Given the description of an element on the screen output the (x, y) to click on. 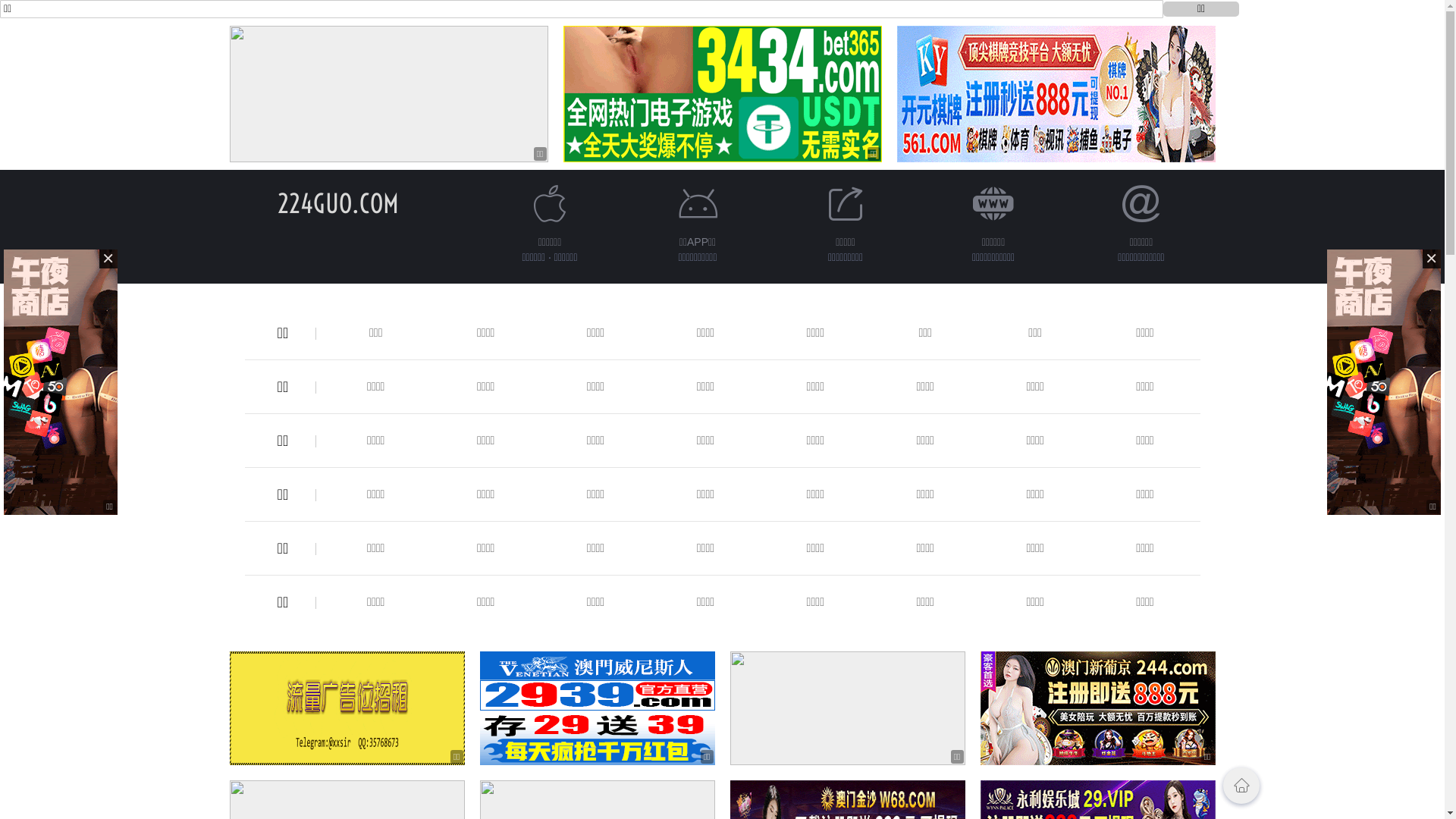
224GUO.COM Element type: text (337, 203)
